Given the description of an element on the screen output the (x, y) to click on. 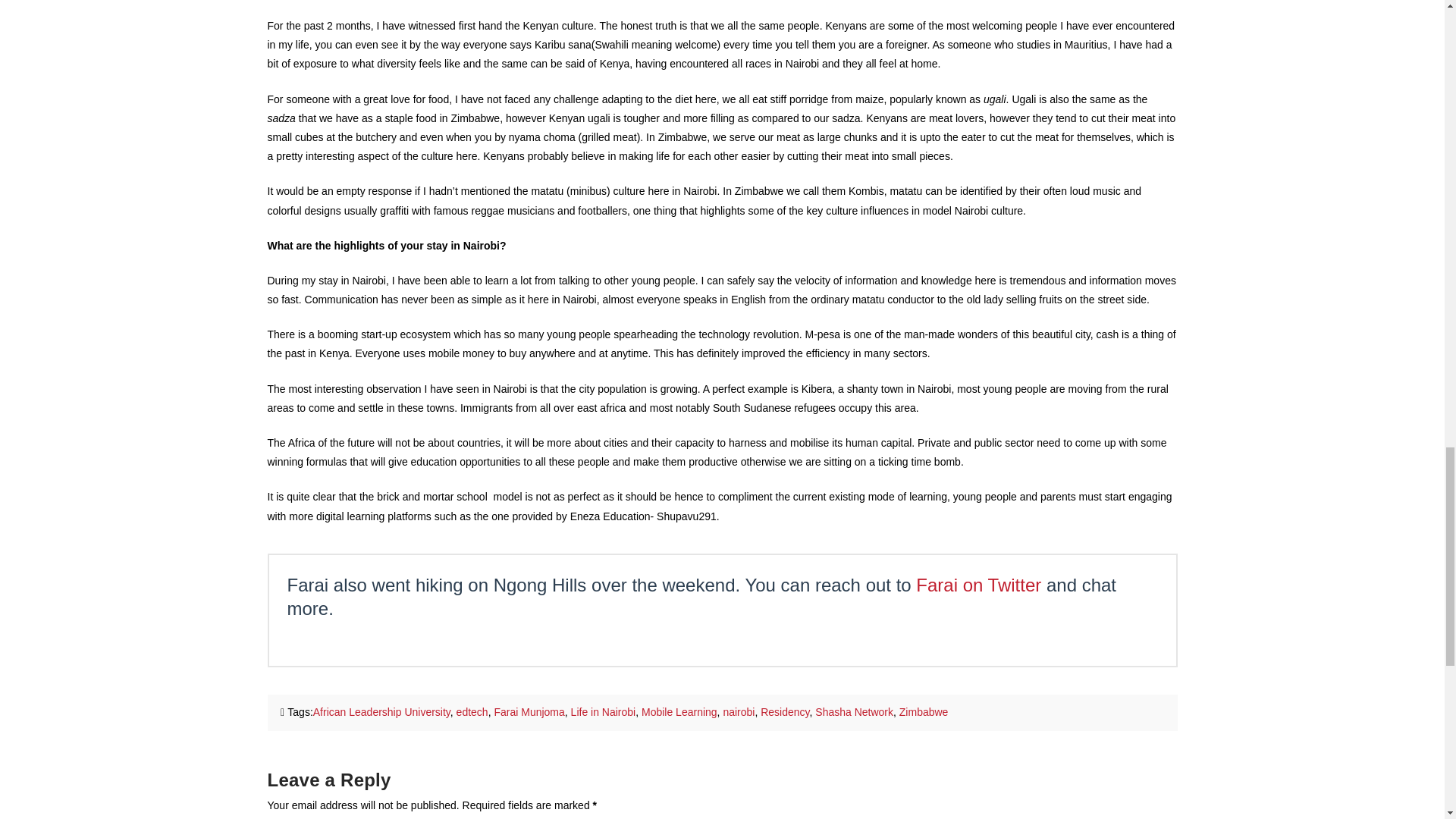
edtech (472, 711)
Farai Munjoma (528, 711)
African Leadership University (381, 711)
Shasha Network (854, 711)
Farai on Twitter (978, 584)
Life in Nairobi (603, 711)
Residency (784, 711)
Mobile Learning (679, 711)
Zimbabwe (924, 711)
nairobi (738, 711)
